Given the description of an element on the screen output the (x, y) to click on. 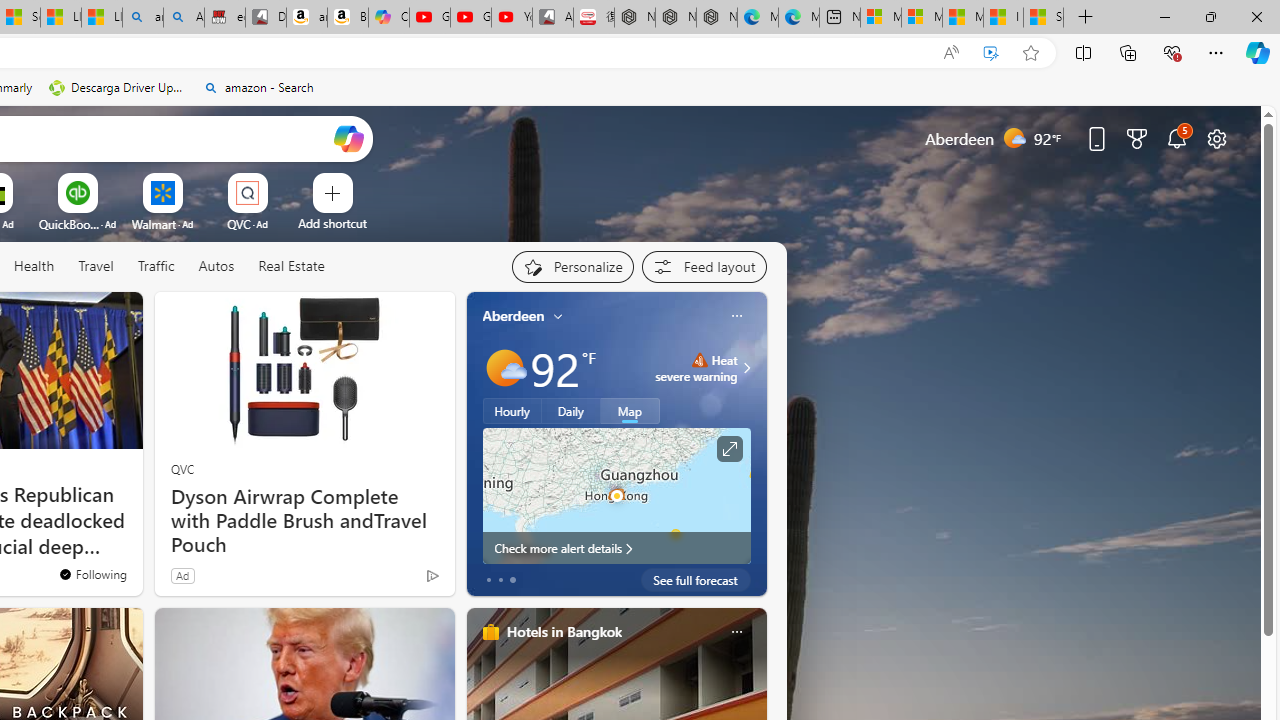
amazon.in/dp/B0CX59H5W7/?tag=gsmcom05-21 (306, 17)
Descarga Driver Updater (118, 88)
See full forecast (695, 579)
Dyson Airwrap Complete with Paddle Brush andTravel Pouch (304, 521)
Page settings (1216, 138)
Nordace Comino Totepack (634, 17)
YouTube Kids - An App Created for Kids to Explore Content (511, 17)
Hotels in Bangkok (563, 631)
